Given the description of an element on the screen output the (x, y) to click on. 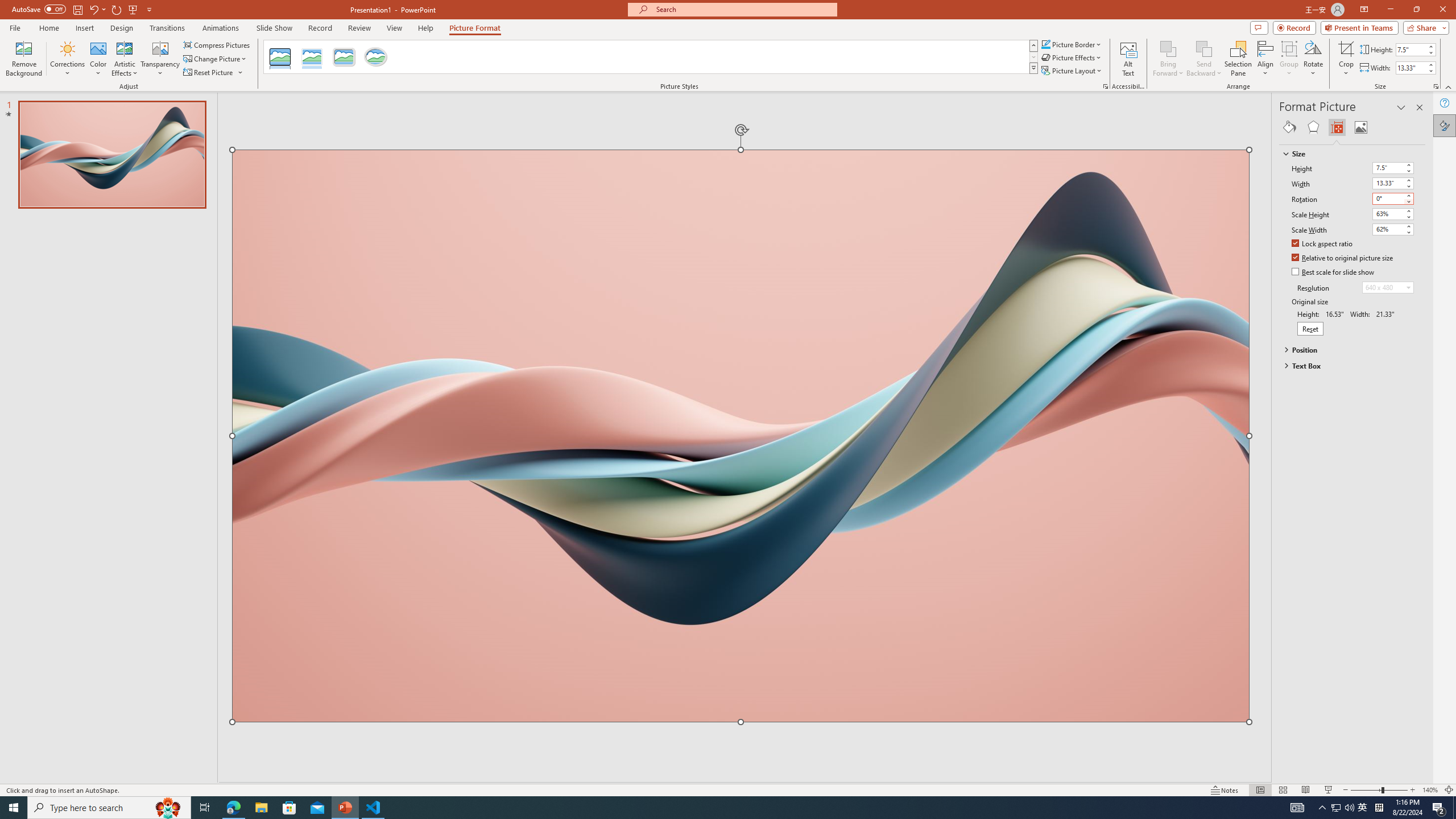
Selection Pane... (1238, 58)
Shape Height (1410, 49)
Picture Border (1071, 44)
Transparency (160, 58)
Align (1264, 58)
Relative to original picture size (1342, 258)
Group (1288, 58)
Send Backward (1204, 58)
Bring Forward (1168, 58)
